Given the description of an element on the screen output the (x, y) to click on. 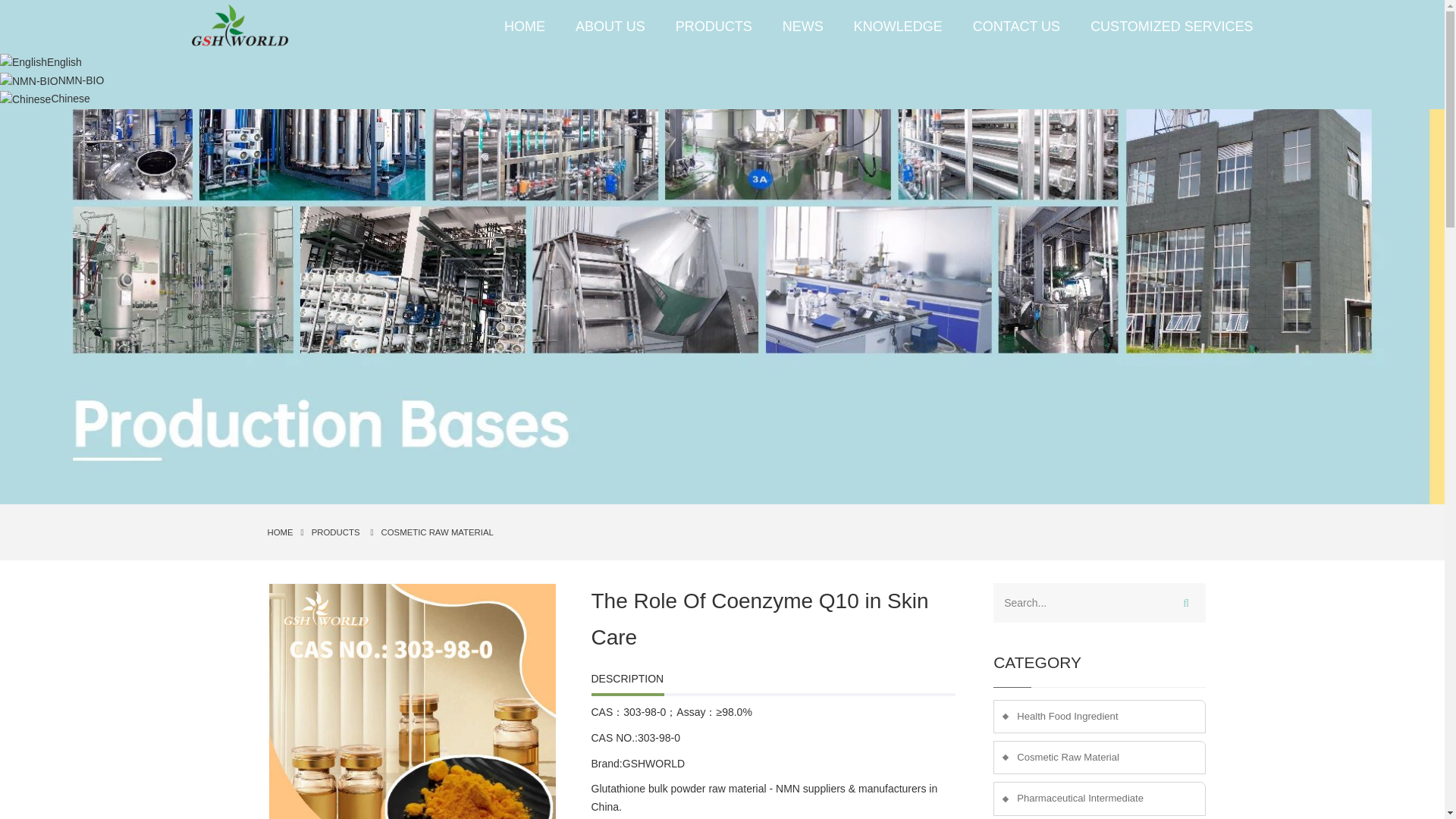
NMN-BIO (51, 80)
GSHWORLD (653, 763)
PRODUCTS (336, 532)
CONTACT US (1016, 26)
English (40, 61)
KNOWLEDGE (898, 26)
ABOUT US (610, 26)
NEWS (802, 26)
HOME (282, 532)
PRODUCTS (714, 26)
HOME (524, 26)
Chinese (45, 98)
CUSTOMIZED SERVICES (1163, 26)
COSMETIC RAW MATERIAL (437, 532)
